Given the description of an element on the screen output the (x, y) to click on. 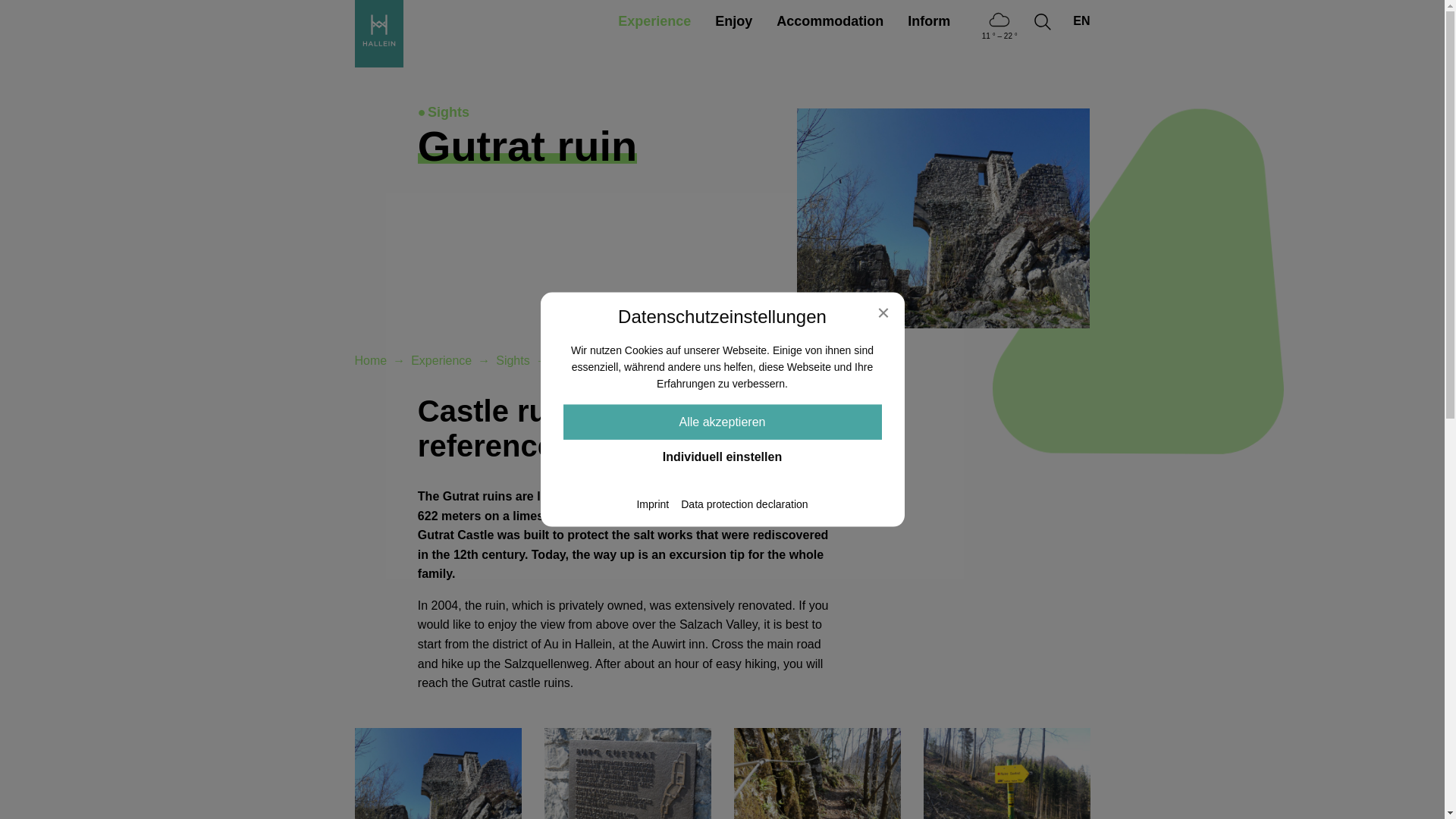
Search (1053, 305)
Enjoy (733, 20)
Home (371, 359)
Accommodation (829, 20)
Inform (928, 20)
Experience (654, 20)
